Given the description of an element on the screen output the (x, y) to click on. 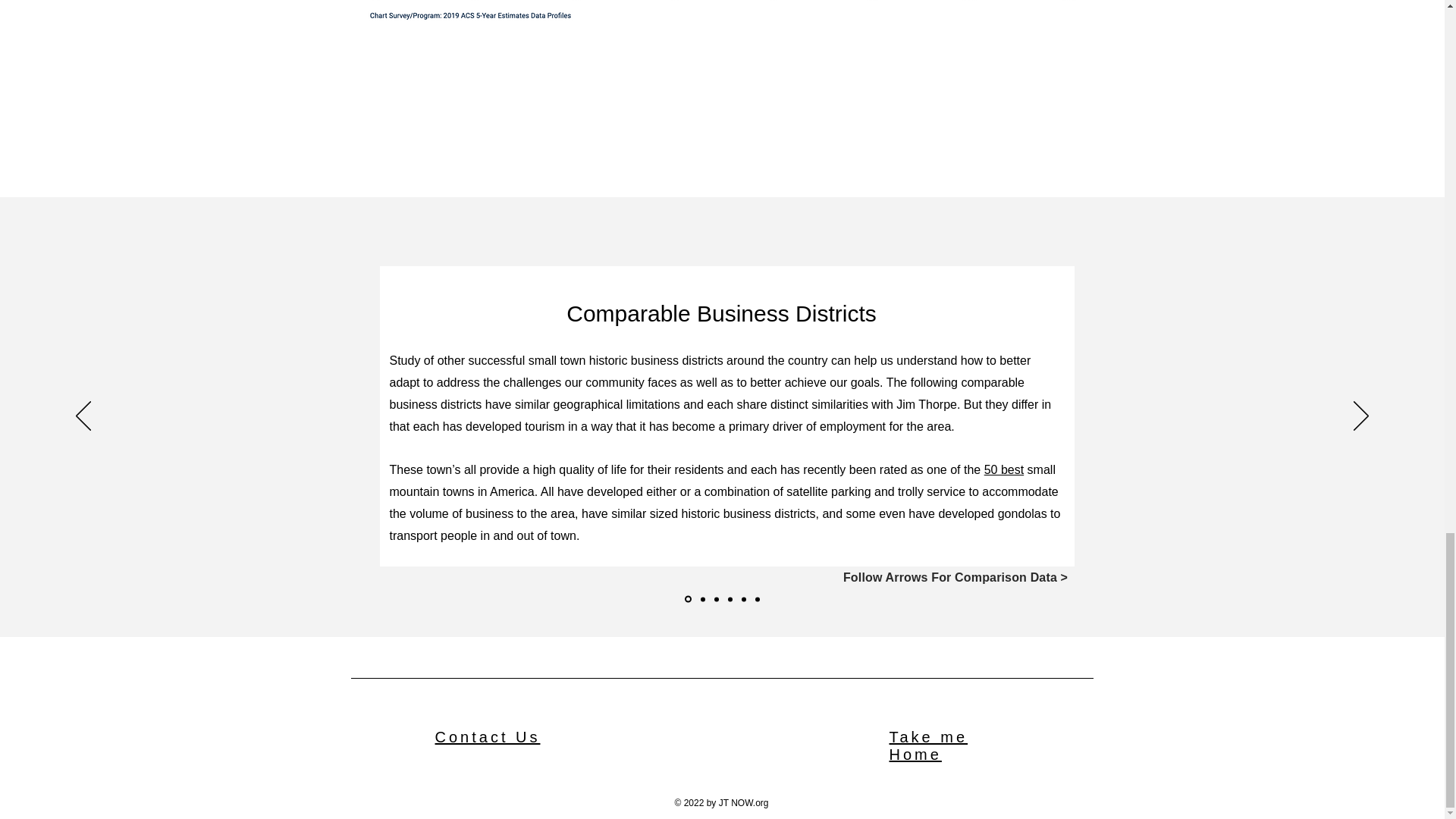
Contact Us (487, 736)
Take me Home (928, 745)
50 best (1003, 469)
